Given the description of an element on the screen output the (x, y) to click on. 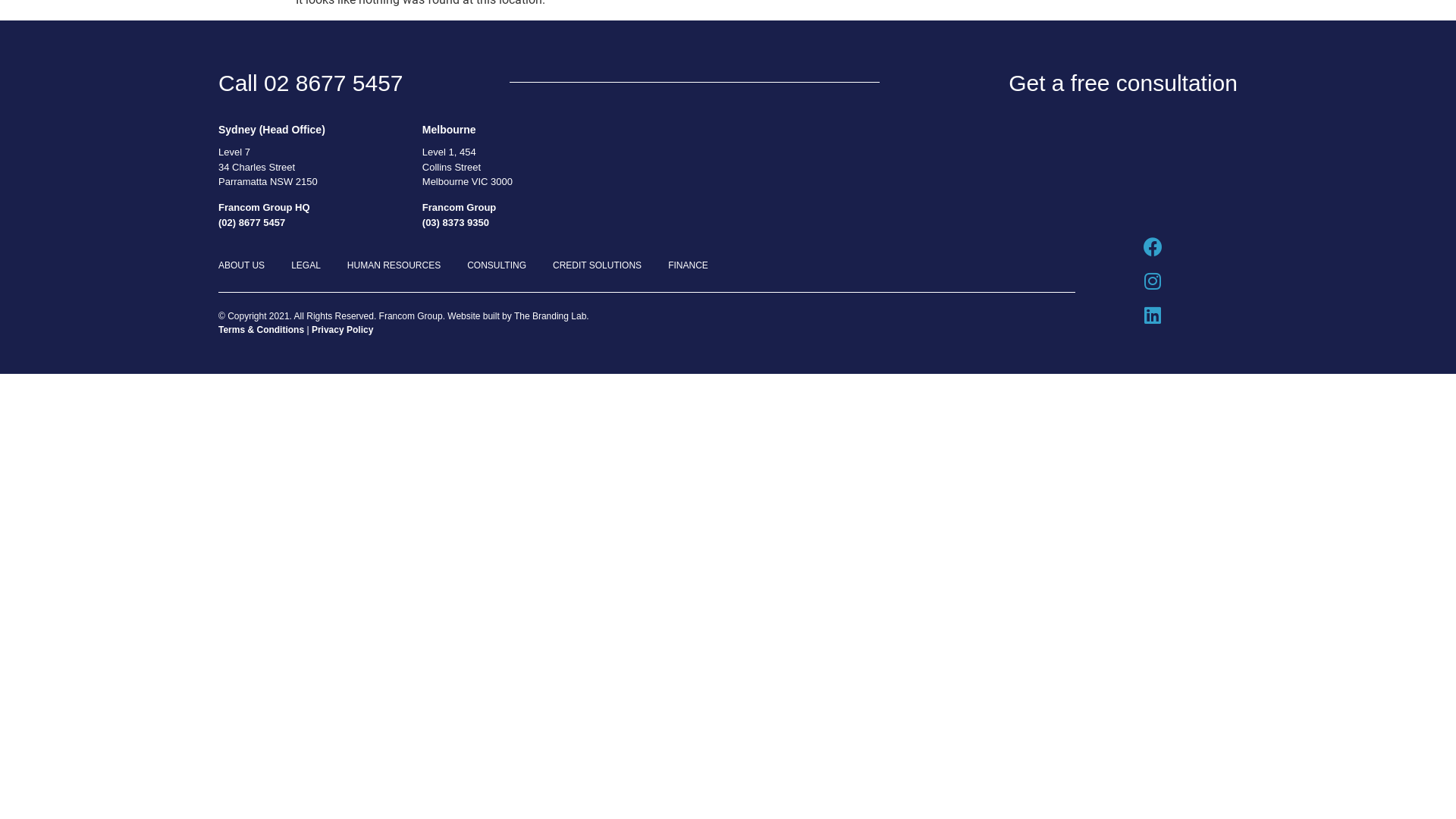
CONTACT US Element type: text (1167, 172)
Terms & Conditions Element type: text (261, 329)
CONSULTING Element type: text (496, 265)
LEGAL Element type: text (305, 265)
HOME Element type: text (1167, 45)
CREDIT SOLUTIONS Element type: text (1167, 136)
HUMAN RESOURCES Element type: text (393, 265)
LEGAL Element type: text (1167, 81)
ABOUT US Element type: text (241, 265)
The Branding Lab Element type: text (550, 315)
CAPITAL Element type: text (1167, 154)
CREDIT SOLUTIONS Element type: text (596, 265)
CONSULTING Element type: text (1167, 118)
HUMAN RESOURCES Element type: text (1167, 100)
ABOUT US Element type: text (1167, 63)
FINANCE Element type: text (688, 265)
Privacy Policy Element type: text (342, 329)
